Given the description of an element on the screen output the (x, y) to click on. 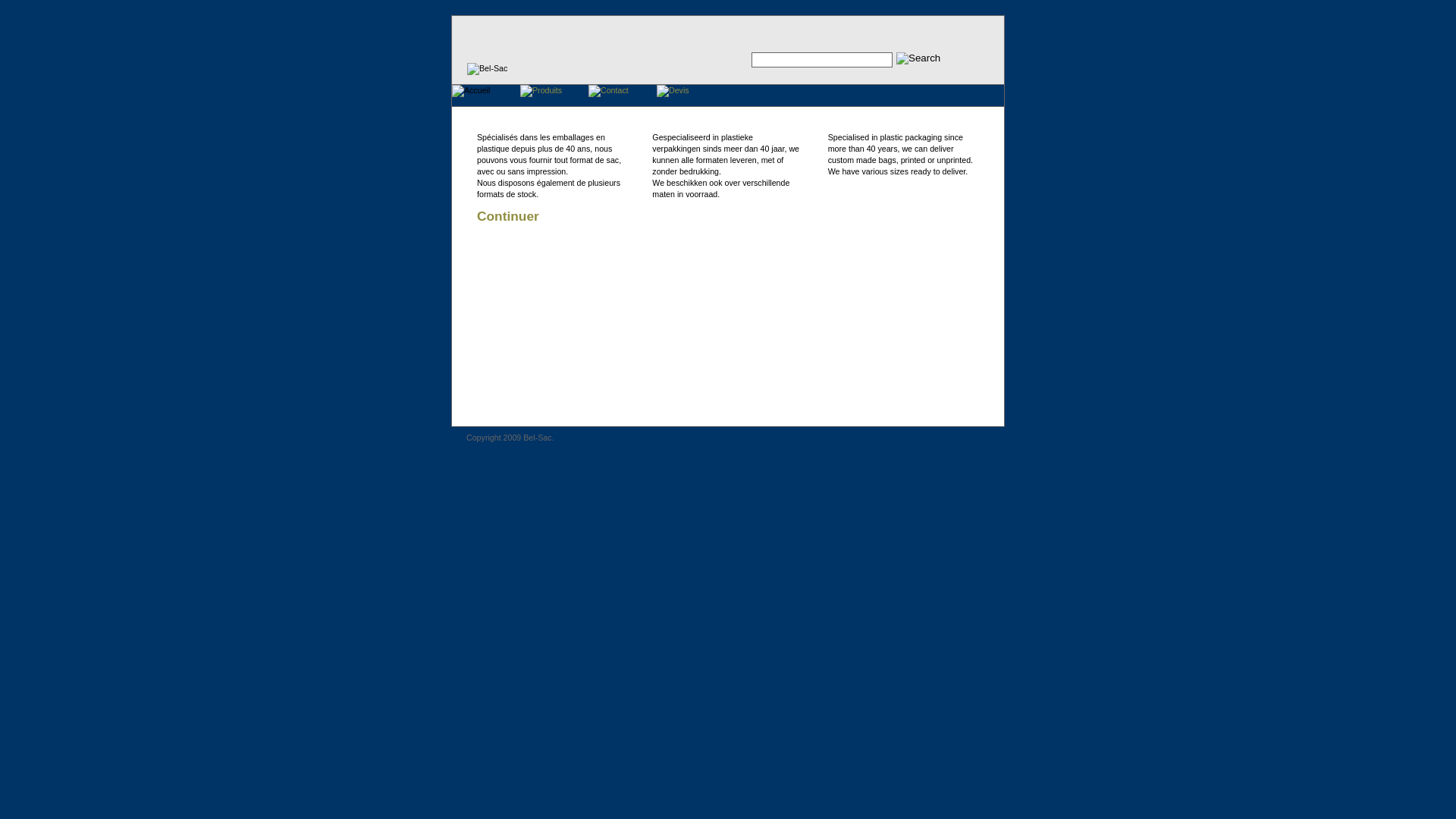
Continuer Element type: text (507, 215)
Bel-Sac Element type: hover (487, 68)
